Given the description of an element on the screen output the (x, y) to click on. 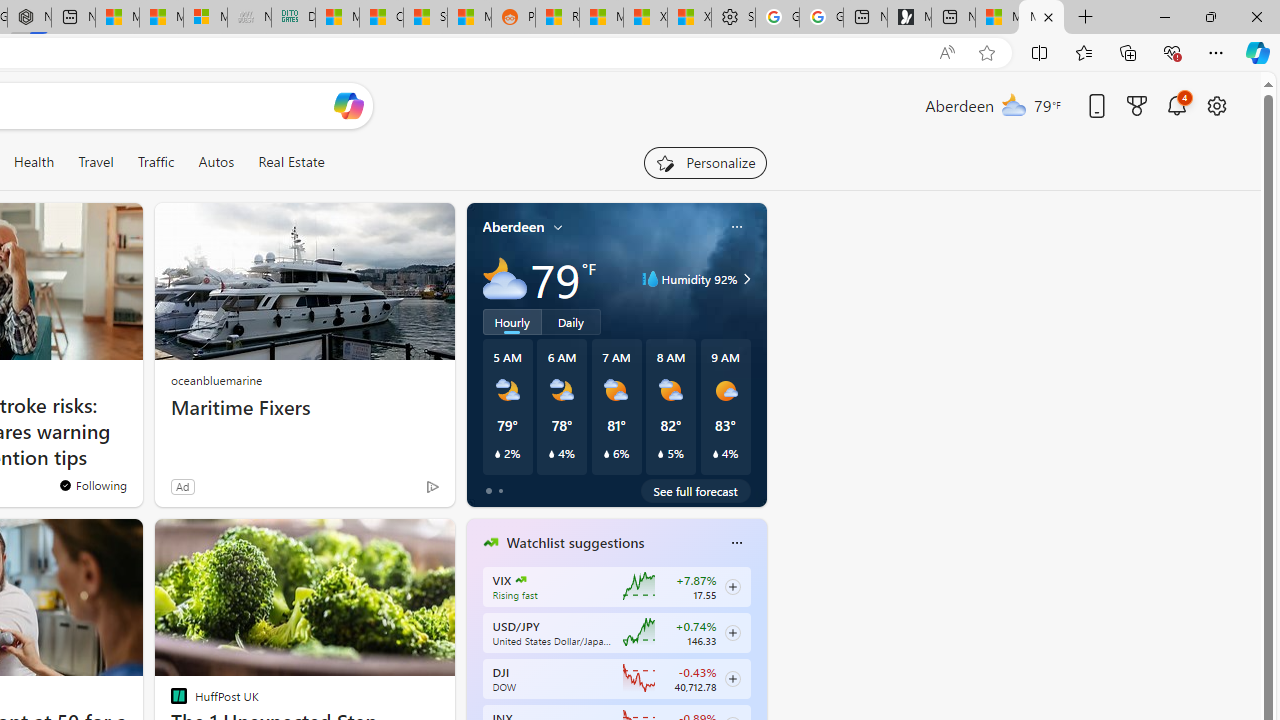
Daily (571, 321)
Health (34, 161)
Class: follow-button  m (732, 678)
Hourly (511, 321)
Travel (95, 161)
